Given the description of an element on the screen output the (x, y) to click on. 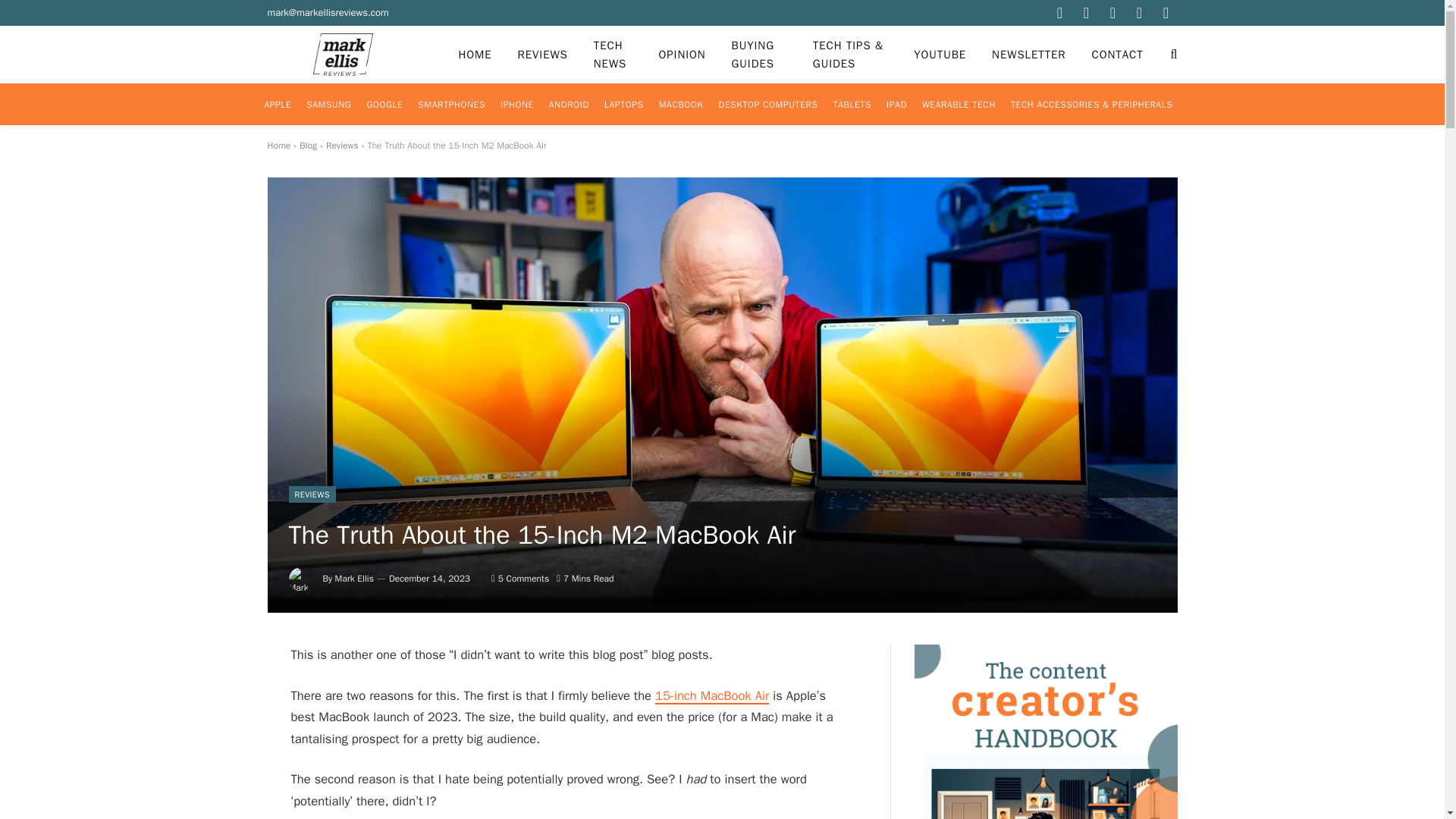
SAMSUNG (328, 104)
SMARTPHONES (451, 104)
TECH NEWS (613, 54)
Home (277, 145)
TABLETS (852, 104)
NEWSLETTER (1028, 54)
REVIEWS (542, 54)
DESKTOP COMPUTERS (768, 104)
YOUTUBE (939, 54)
BUYING GUIDES (759, 54)
